Given the description of an element on the screen output the (x, y) to click on. 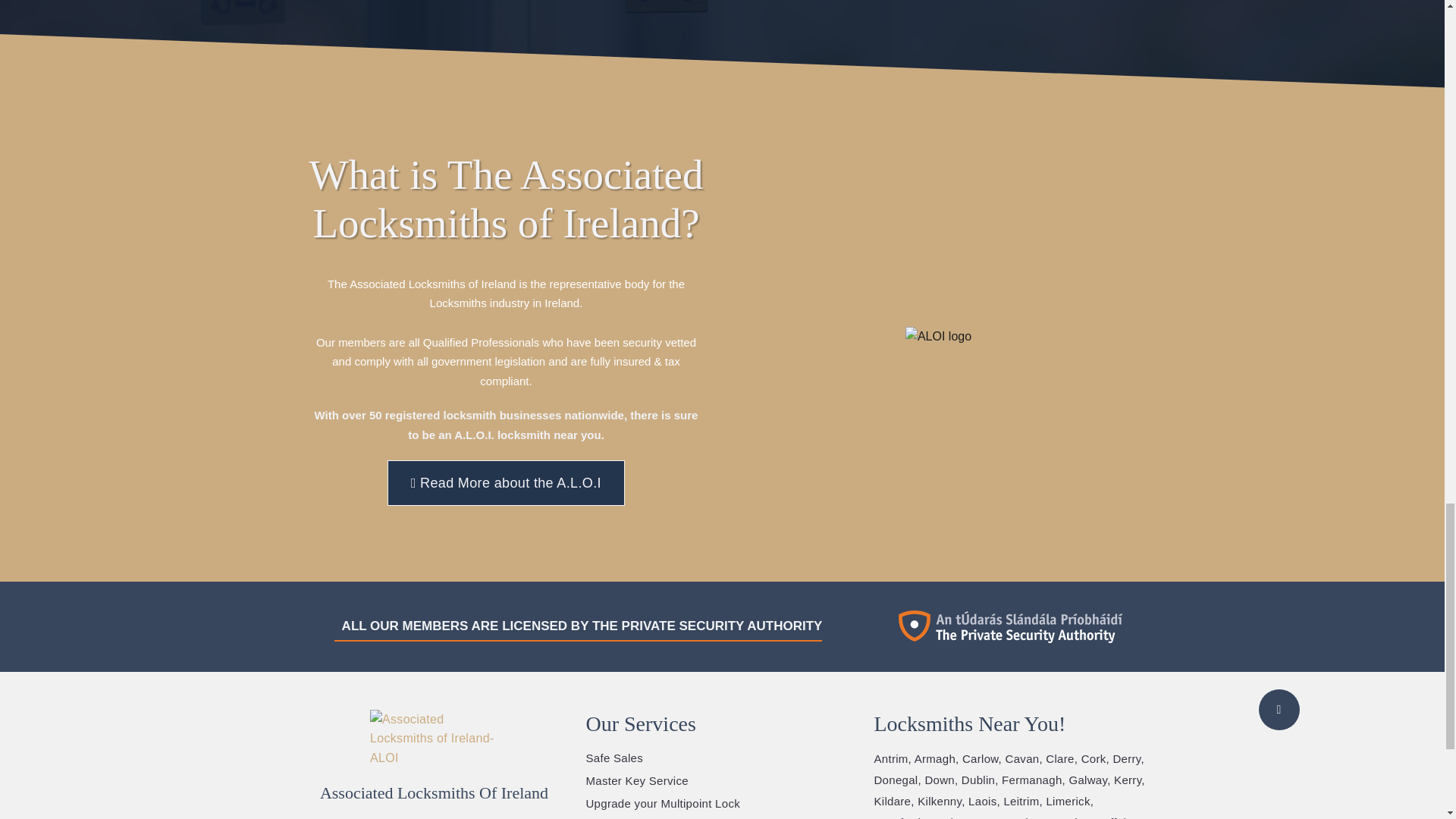
ALOI logo 2 (938, 336)
Associated Locksmiths of Ireland-ALOI (433, 739)
